Given the description of an element on the screen output the (x, y) to click on. 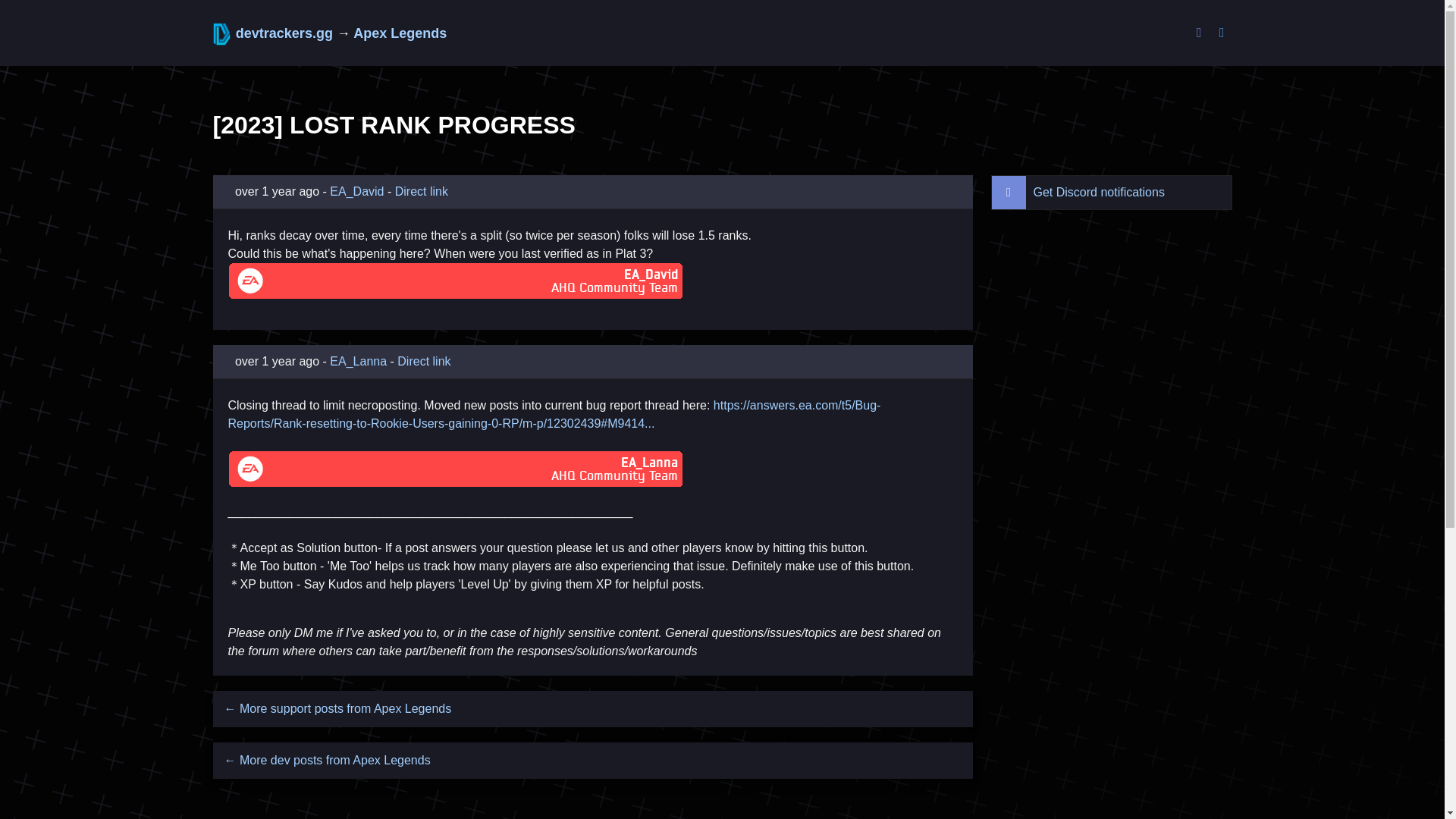
Apex Legends (399, 32)
Get Discord notifications (1081, 192)
David.png (454, 282)
devtrackers.gg (274, 32)
Direct link (423, 360)
Direct link (421, 191)
Lanna.png (454, 470)
